Given the description of an element on the screen output the (x, y) to click on. 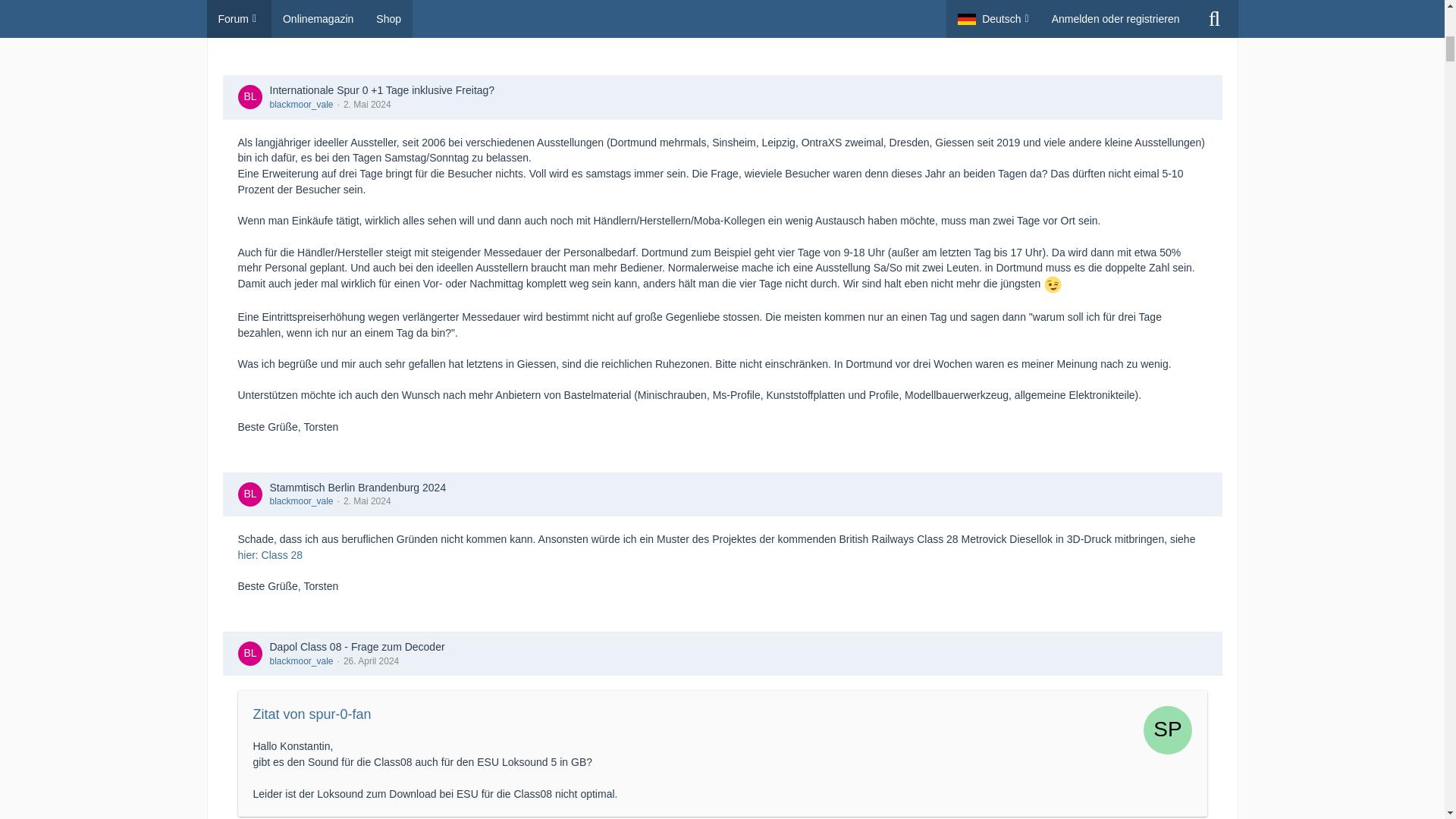
hier: Class 28 (270, 554)
2. Mai 2024 (367, 501)
wink (1052, 284)
Dapol Class 08 - Frage zum Decoder (357, 646)
Stammtisch Berlin Brandenburg 2024 (357, 487)
2. Mai 2024 (367, 104)
